Given the description of an element on the screen output the (x, y) to click on. 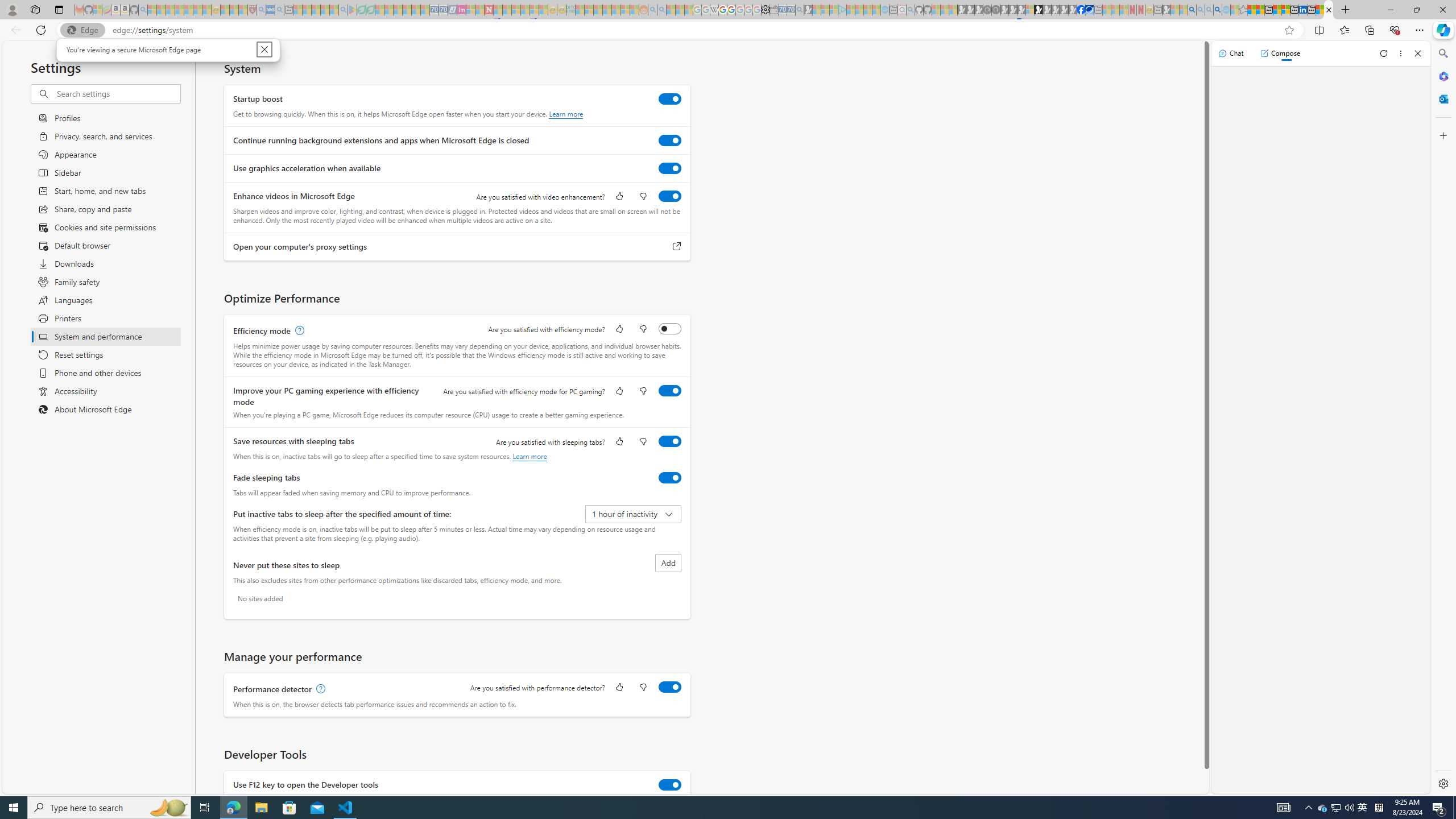
Learn more (529, 456)
Jobs - lastminute.com Investor Portal - Sleeping (461, 9)
AutomationID: 4105 (1283, 807)
Fade sleeping tabs (669, 477)
AQI & Health | AirNow.gov (1089, 9)
Start (13, 807)
Bluey: Let's Play! - Apps on Google Play - Sleeping (352, 9)
Action Center, 2 new notifications (1439, 807)
